Given the description of an element on the screen output the (x, y) to click on. 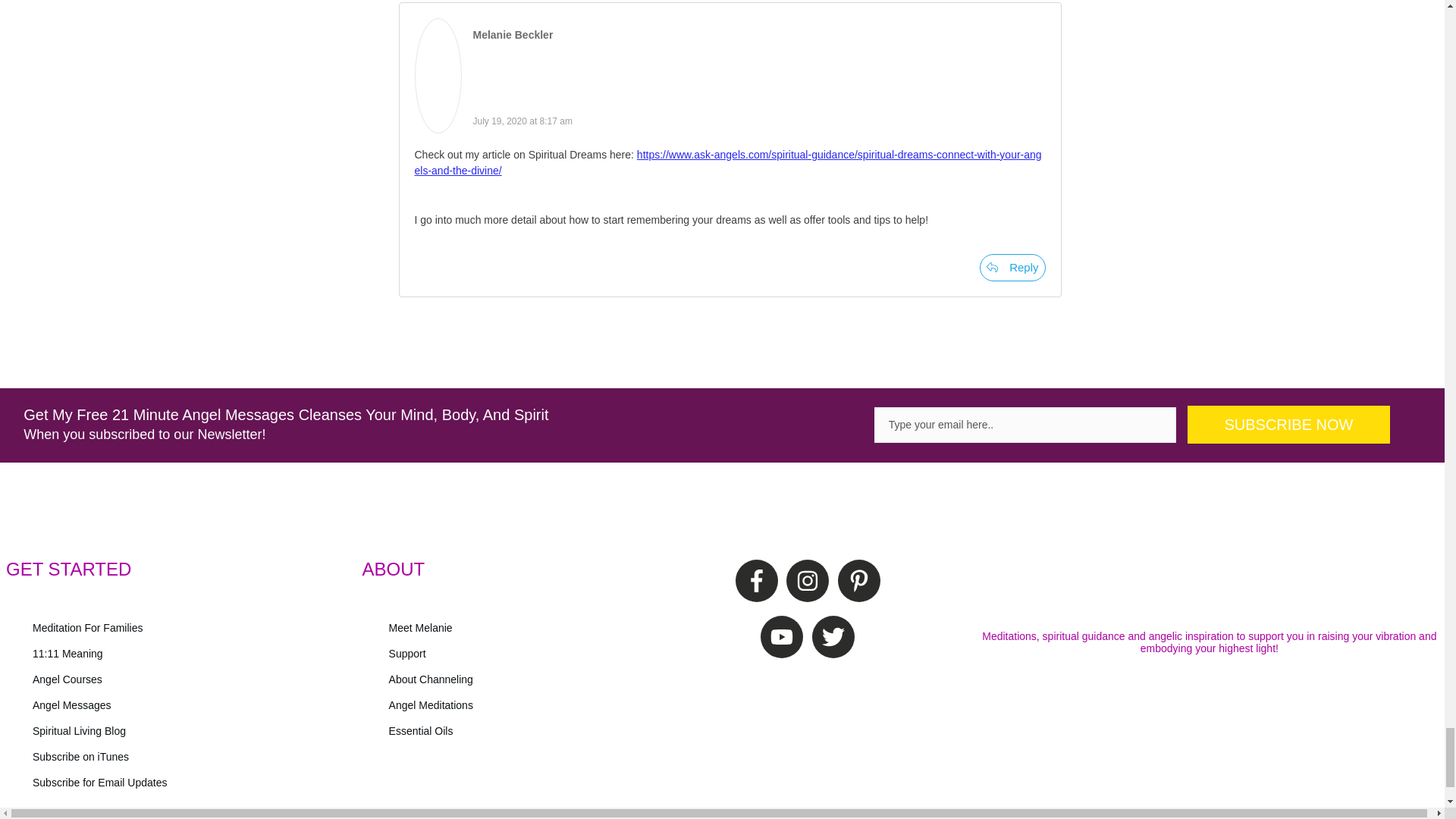
logo-2021 (1209, 585)
